Given the description of an element on the screen output the (x, y) to click on. 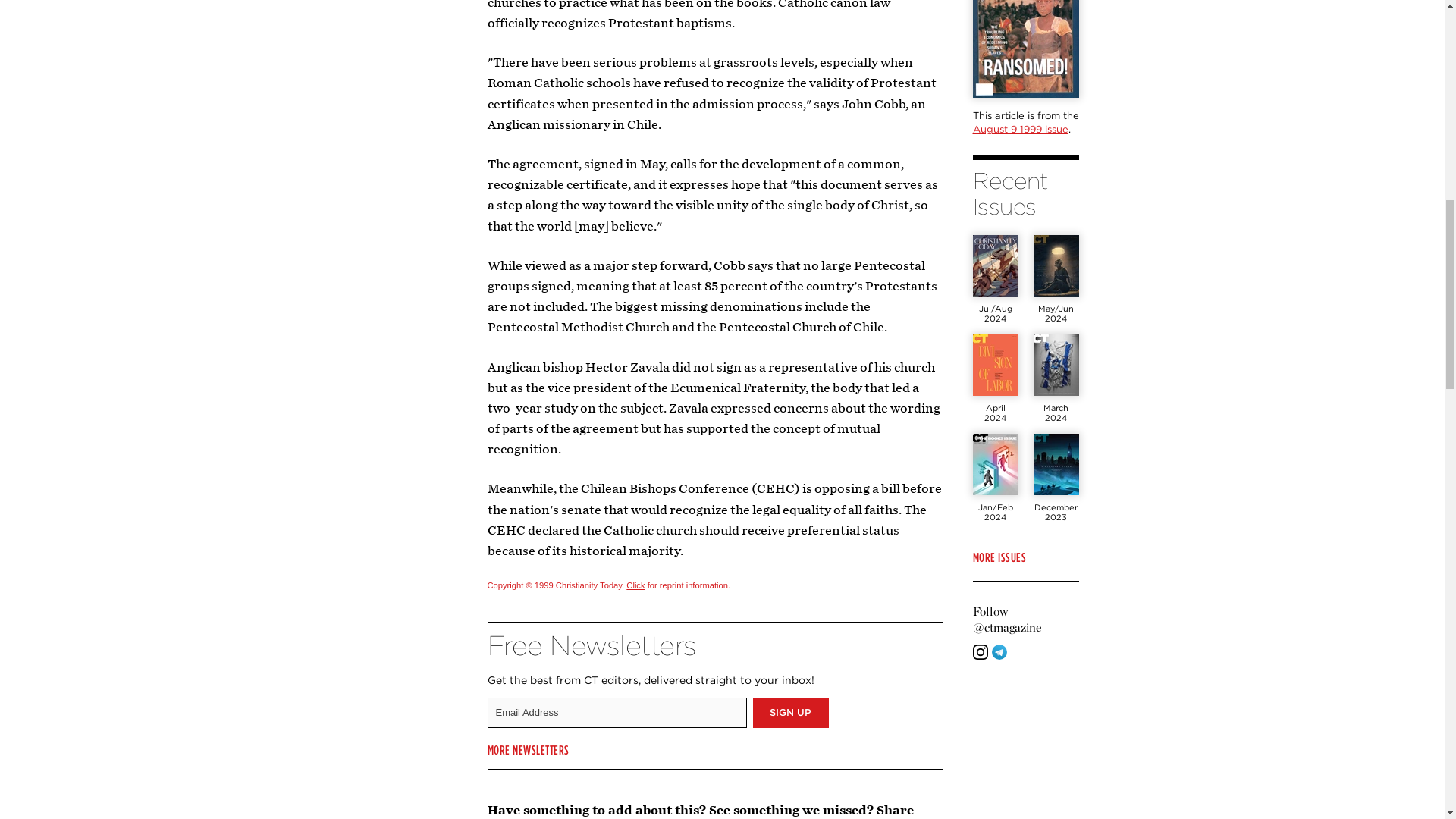
Email Address (615, 712)
Sign Up (790, 712)
